Given the description of an element on the screen output the (x, y) to click on. 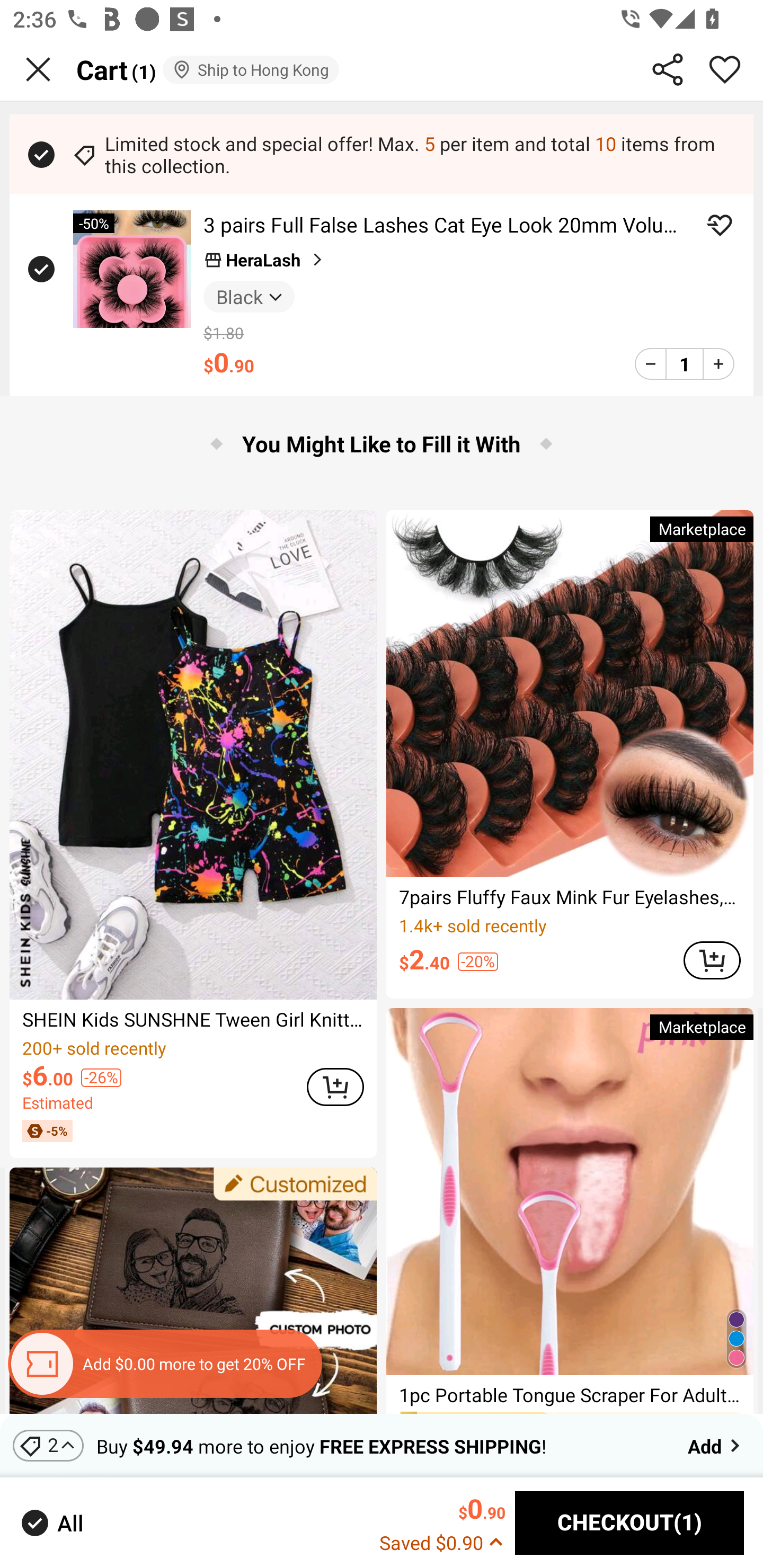
BACK Cart (1) Ship to Hong Kong Share Wishlist (381, 69)
BACK (38, 68)
Wishlist (724, 68)
Share (667, 68)
Ship to Hong Kong (250, 68)
ADD TO WISHLIST (719, 224)
HeraLash (264, 259)
Black (248, 296)
product quantity minus 1 (650, 363)
1 edit product quantity (684, 363)
product quantity add 1 (718, 363)
ADD TO CART (711, 960)
ADD TO CART (334, 1086)
Coupon Alert Add $0.00 more to get 20% OFF (164, 1363)
2 (48, 1445)
Add (715, 1445)
CHECKOUT(1) (629, 1523)
All (51, 1522)
